Given the description of an element on the screen output the (x, y) to click on. 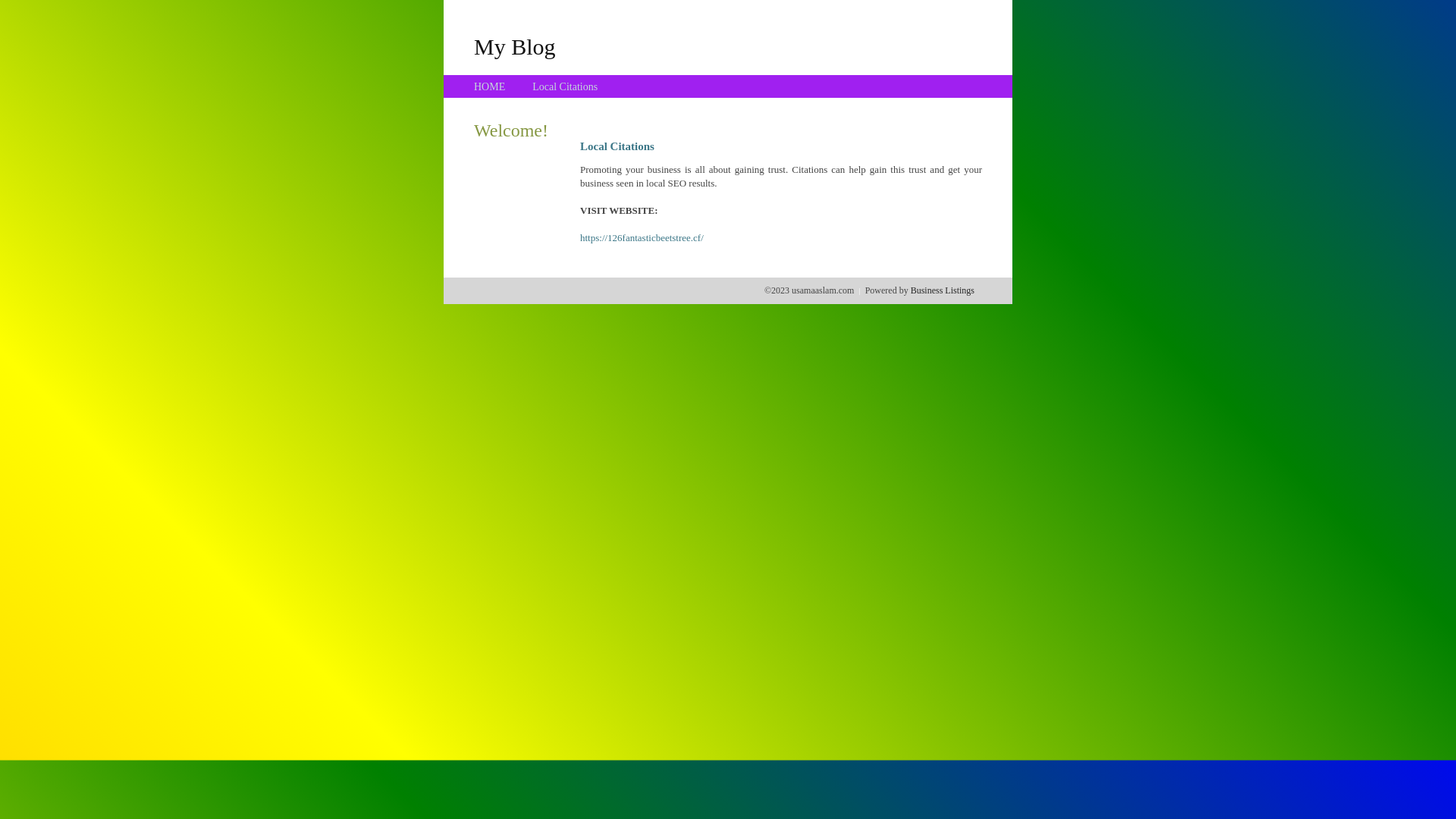
Business Listings Element type: text (942, 290)
HOME Element type: text (489, 86)
https://126fantasticbeetstree.cf/ Element type: text (641, 237)
Local Citations Element type: text (564, 86)
My Blog Element type: text (514, 46)
